Given the description of an element on the screen output the (x, y) to click on. 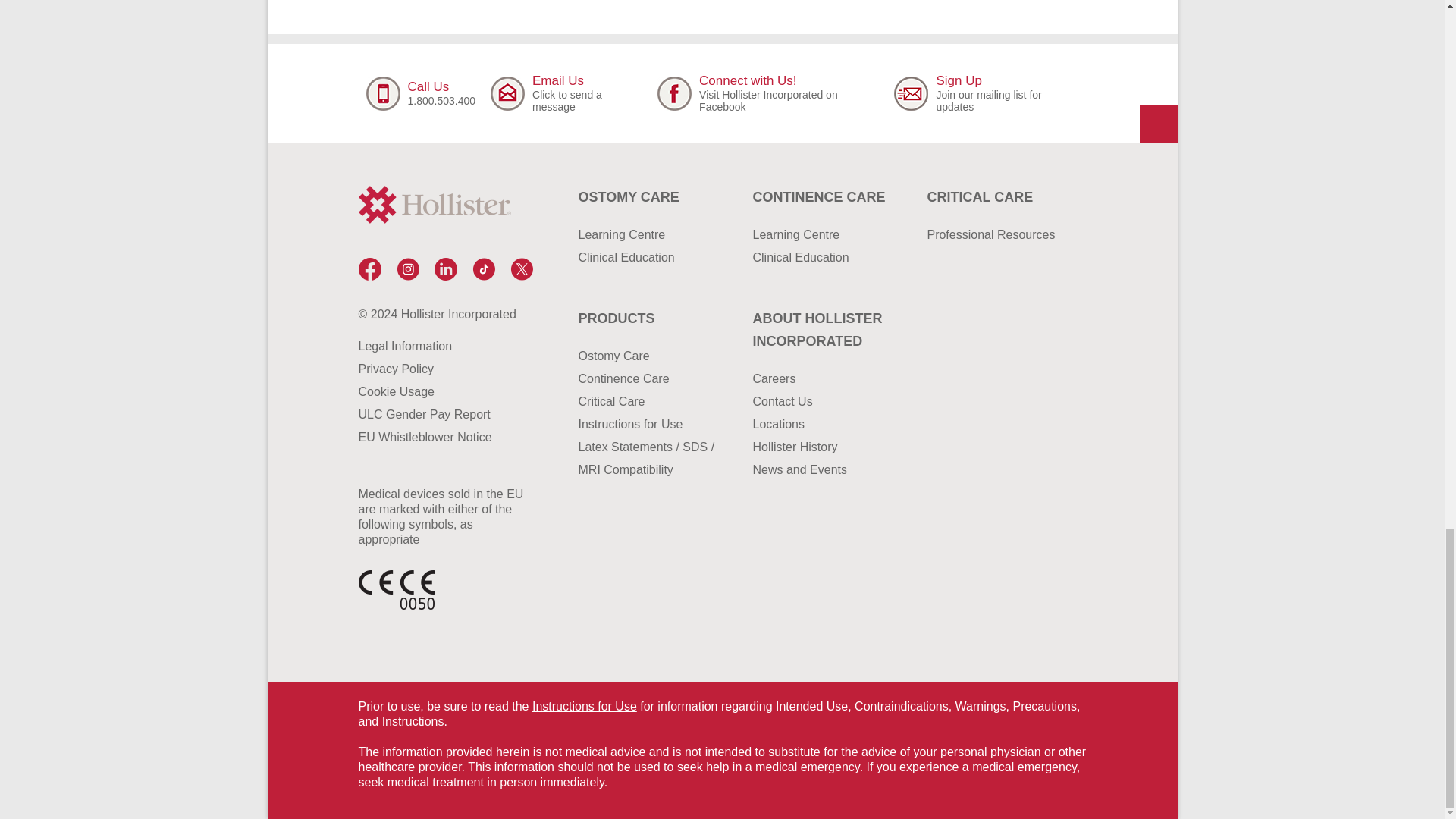
Continence Care (824, 196)
Hollister  (767, 93)
Cookie Usage (441, 391)
Hollister Careers (824, 378)
Privacy Policy (441, 368)
Hollister History (824, 446)
Professional Resources (998, 234)
Hollister Locations (824, 424)
Critical Care (998, 196)
Ostomy Care (650, 196)
